Given the description of an element on the screen output the (x, y) to click on. 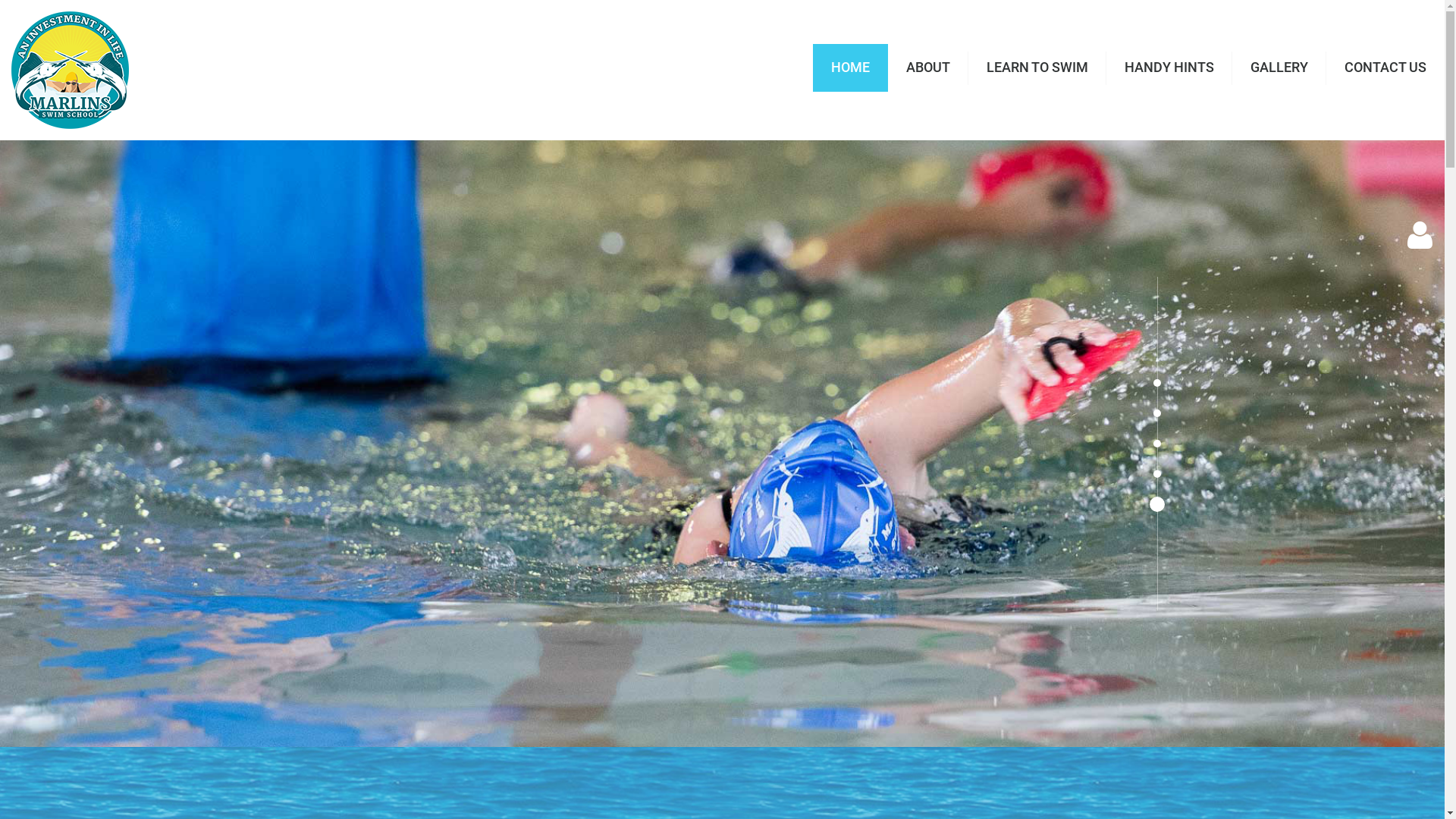
HANDY HINTS Element type: text (1169, 67)
ABOUT Element type: text (928, 67)
CONTACT US Element type: text (1385, 67)
LEARN TO SWIM Element type: text (1037, 67)
GALLERY Element type: text (1279, 67)
HOME Element type: text (850, 67)
